Given the description of an element on the screen output the (x, y) to click on. 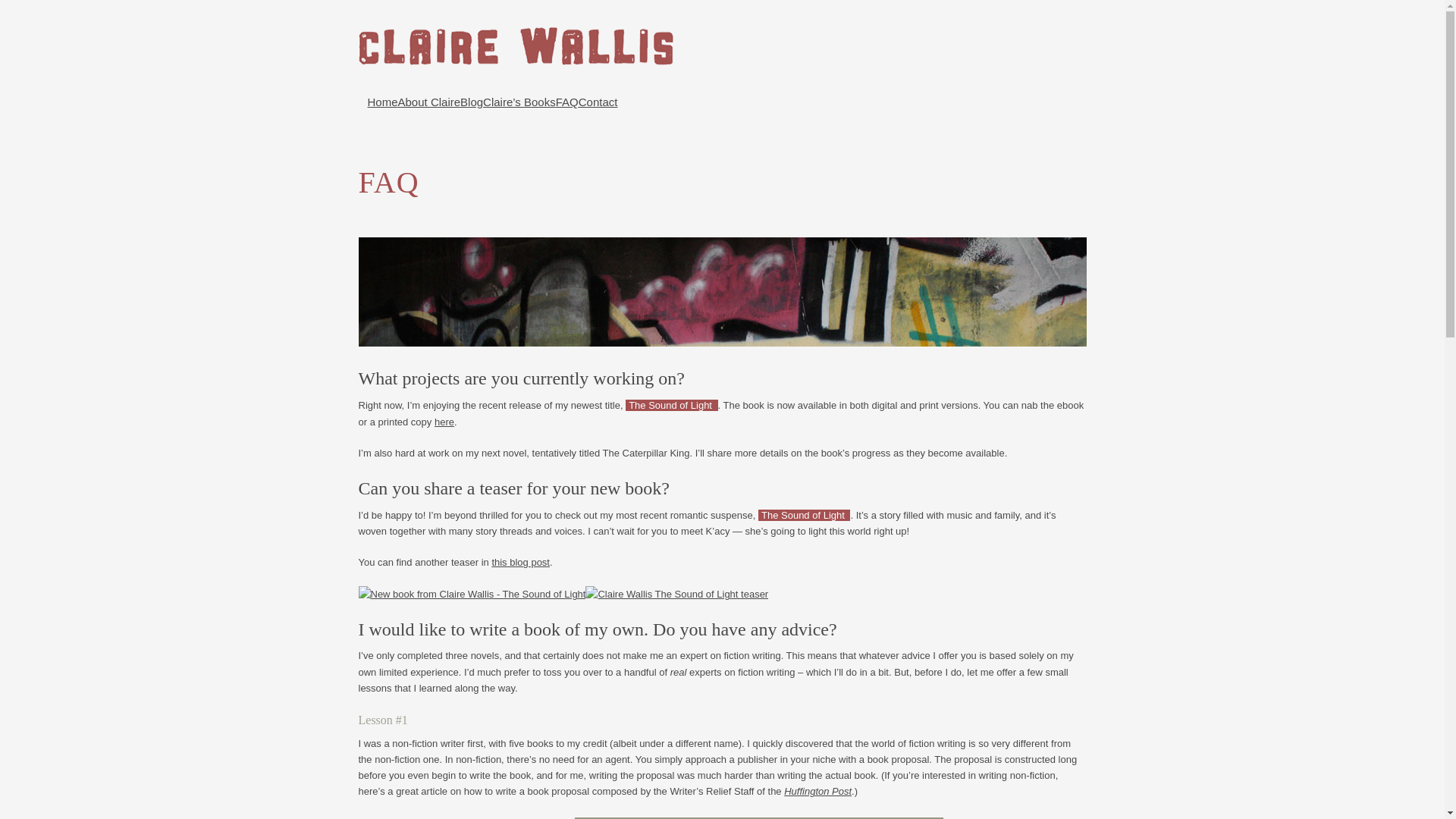
Contact (597, 102)
here (443, 421)
FAQ (567, 102)
Home (381, 102)
Huffington Post (817, 790)
this blog post (521, 562)
Blog (471, 102)
About Claire (429, 102)
